Given the description of an element on the screen output the (x, y) to click on. 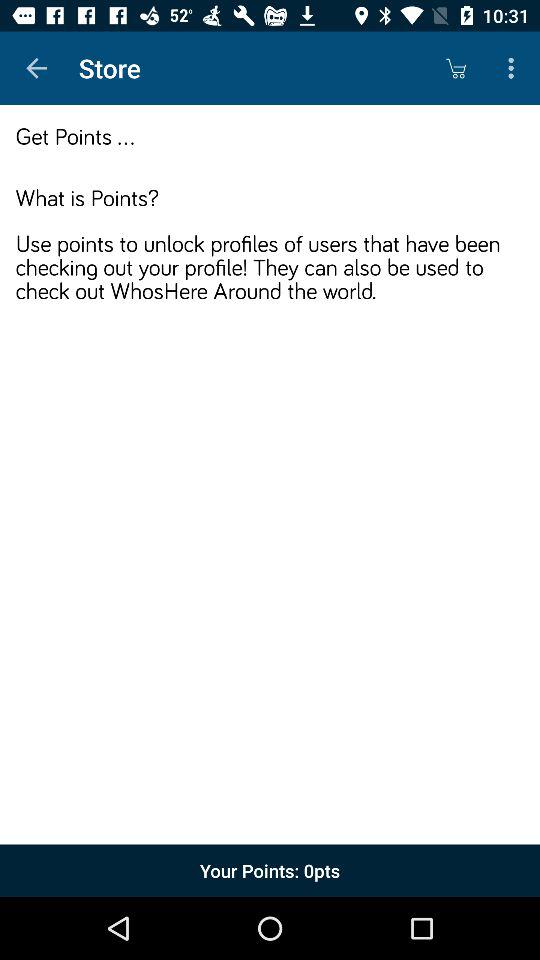
choose the app next to the store item (36, 68)
